Given the description of an element on the screen output the (x, y) to click on. 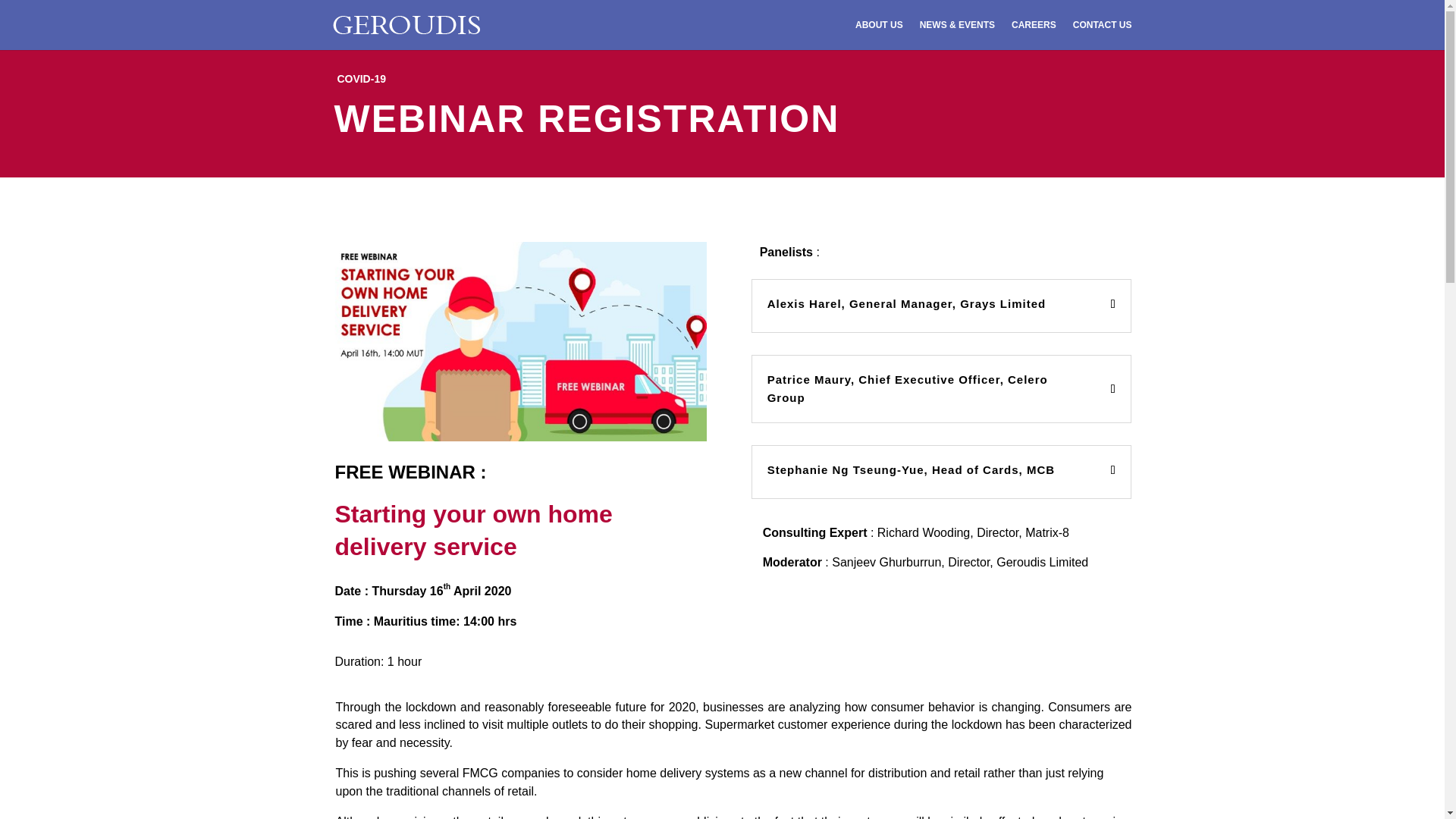
ABOUT US (879, 34)
CAREERS (1034, 34)
CONTACT US (1102, 34)
